Given the description of an element on the screen output the (x, y) to click on. 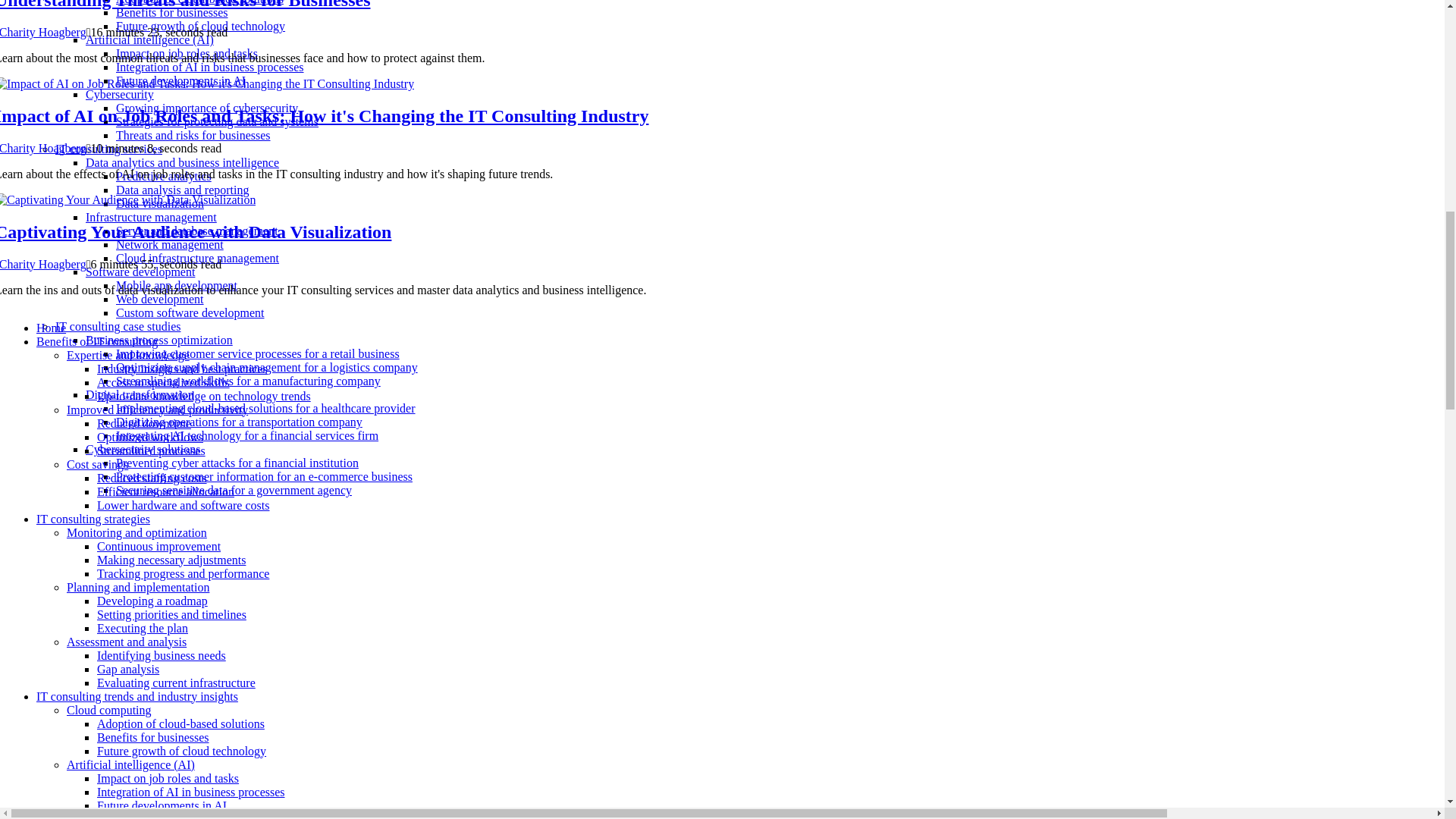
Posts by Charity Hoagberg (42, 147)
Posts by Charity Hoagberg (42, 31)
Posts by Charity Hoagberg (42, 264)
